Given the description of an element on the screen output the (x, y) to click on. 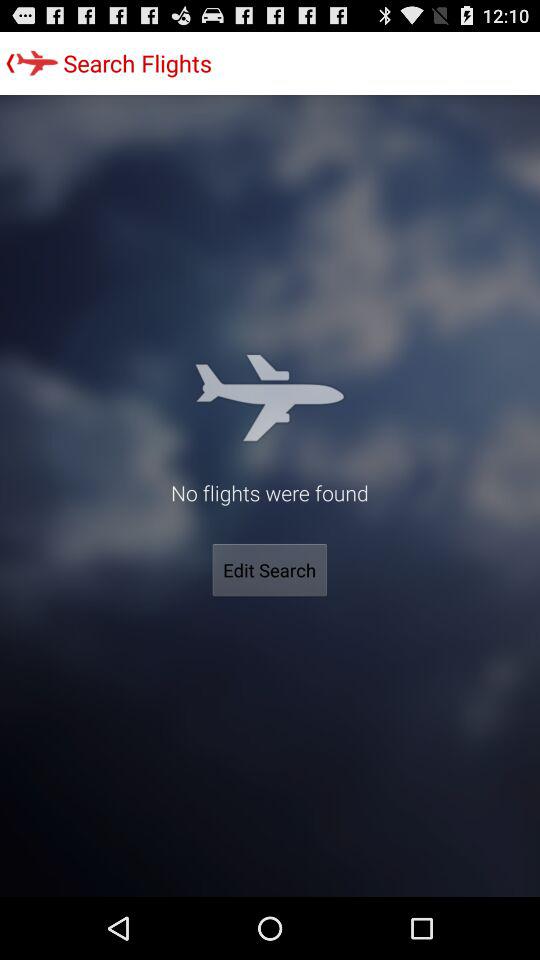
choose edit search icon (269, 569)
